Given the description of an element on the screen output the (x, y) to click on. 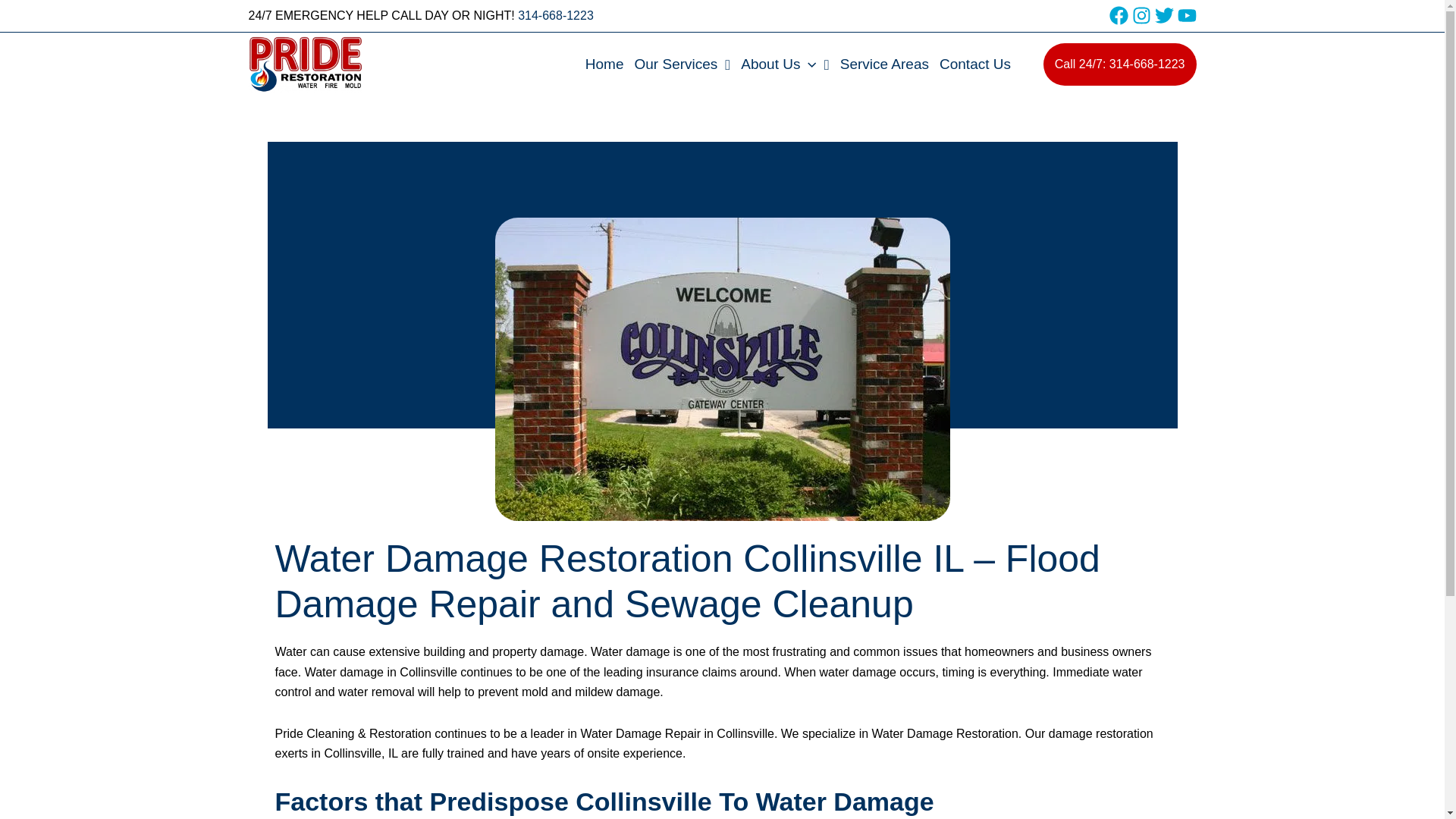
Service Areas (884, 64)
Contact Us (975, 64)
Instagram (1140, 15)
Youtube (1185, 15)
Facebook (1117, 15)
About Us (784, 64)
314-668-1223 (556, 15)
Twitter (1163, 15)
Our Services (682, 64)
Home (603, 64)
